Given the description of an element on the screen output the (x, y) to click on. 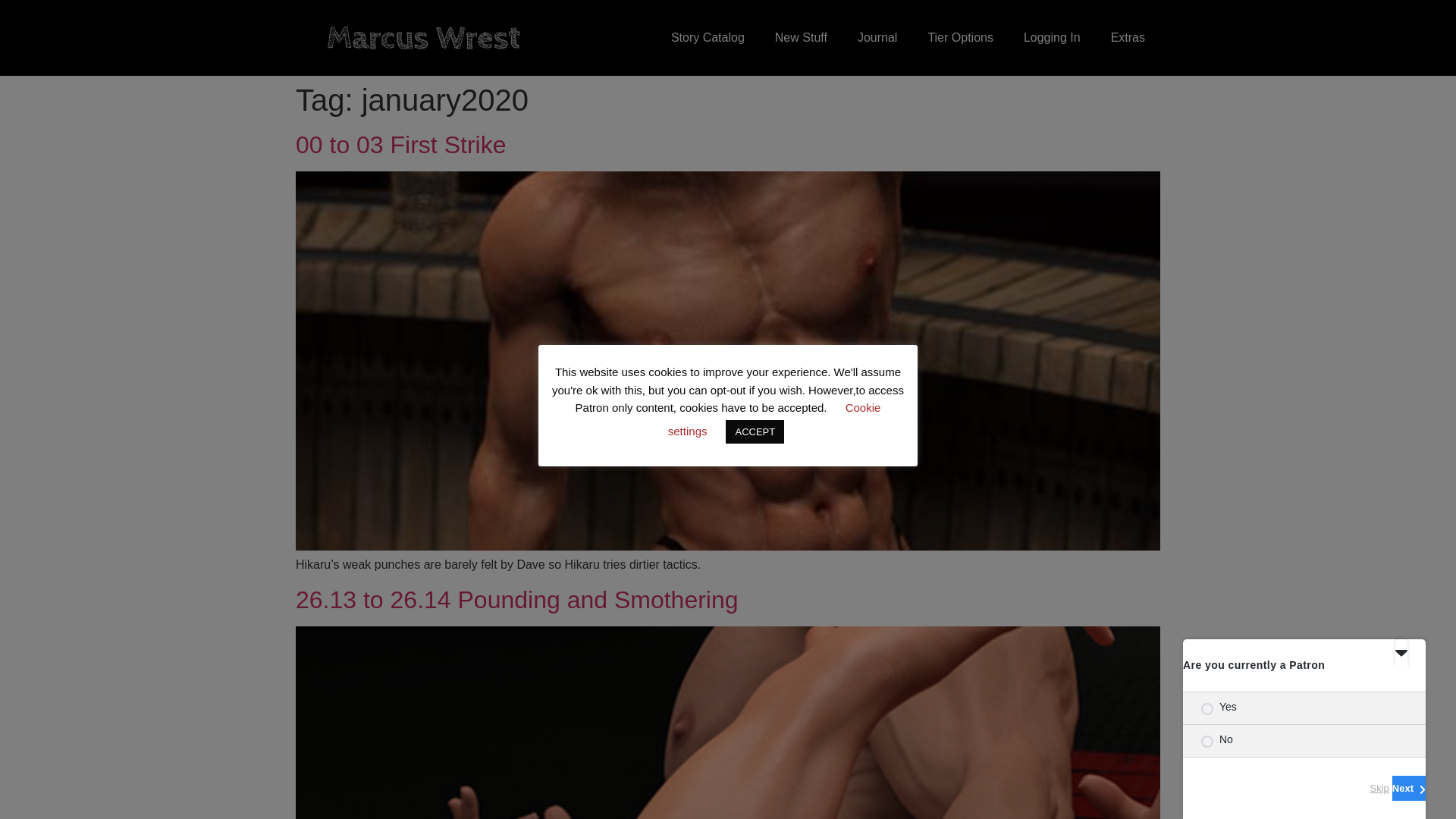
New Stuff (801, 38)
Journal (877, 38)
Logging In (1052, 38)
Tier Options (960, 38)
Story Catalog (708, 38)
26.13 to 26.14 Pounding and Smothering (516, 599)
00 to 03 First Strike (400, 144)
